Given the description of an element on the screen output the (x, y) to click on. 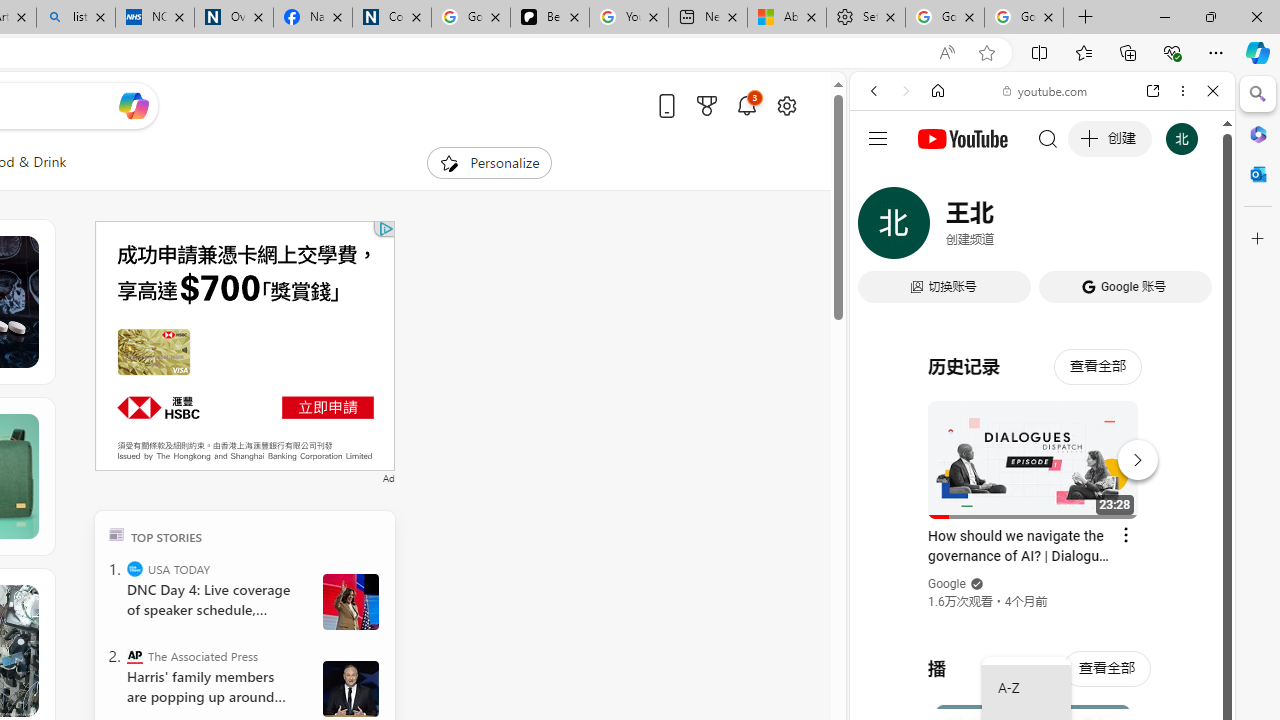
Show More Music (1164, 546)
list of asthma inhalers uk - Search (76, 17)
SEARCH TOOLS (1093, 228)
Search the web (1051, 137)
Preferences (1189, 228)
AutomationID: canvas (244, 345)
Music (1042, 543)
Open settings (786, 105)
Search Filter, Search Tools (1093, 228)
